Given the description of an element on the screen output the (x, y) to click on. 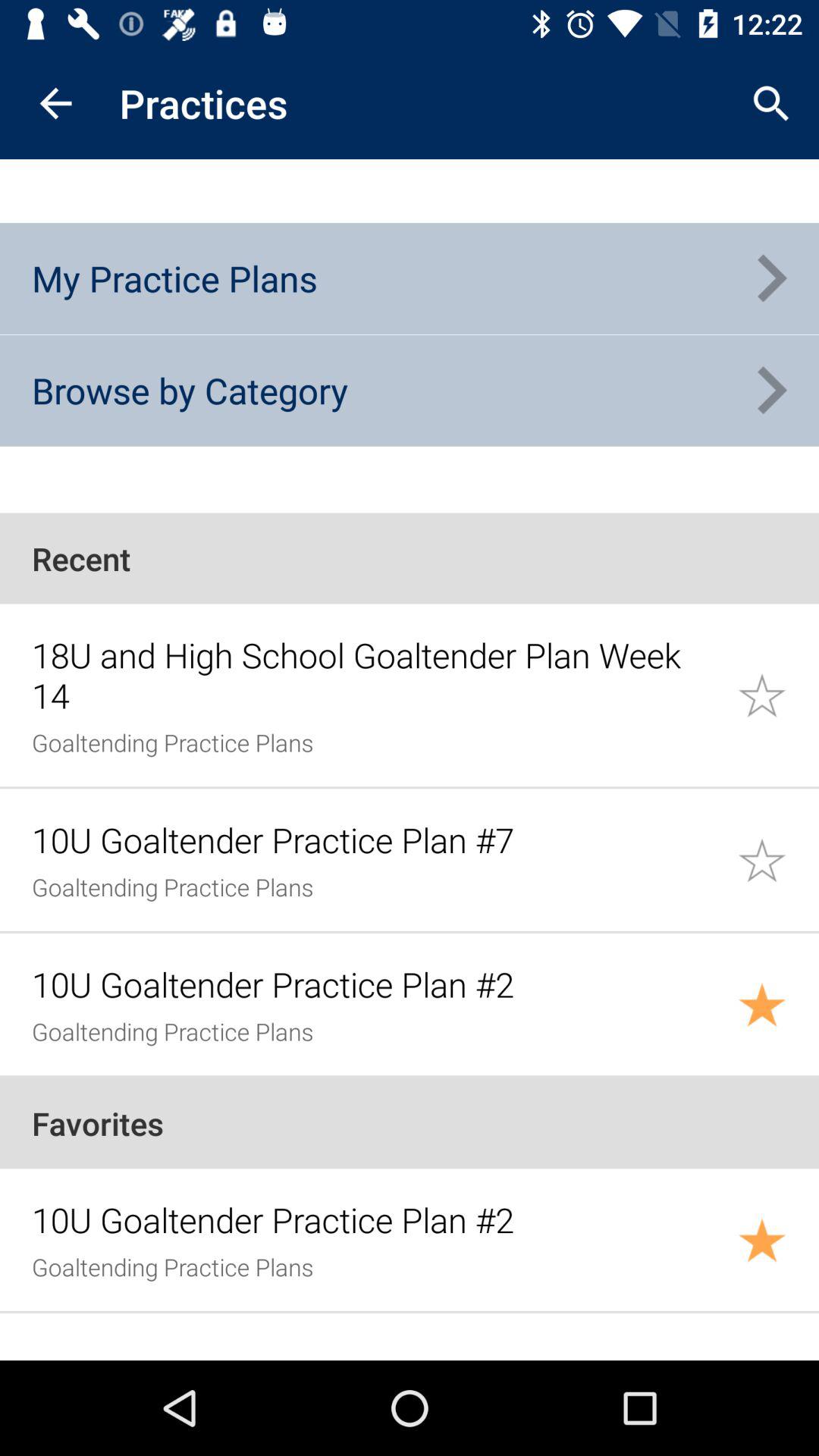
flip to the browse by category icon (189, 390)
